Given the description of an element on the screen output the (x, y) to click on. 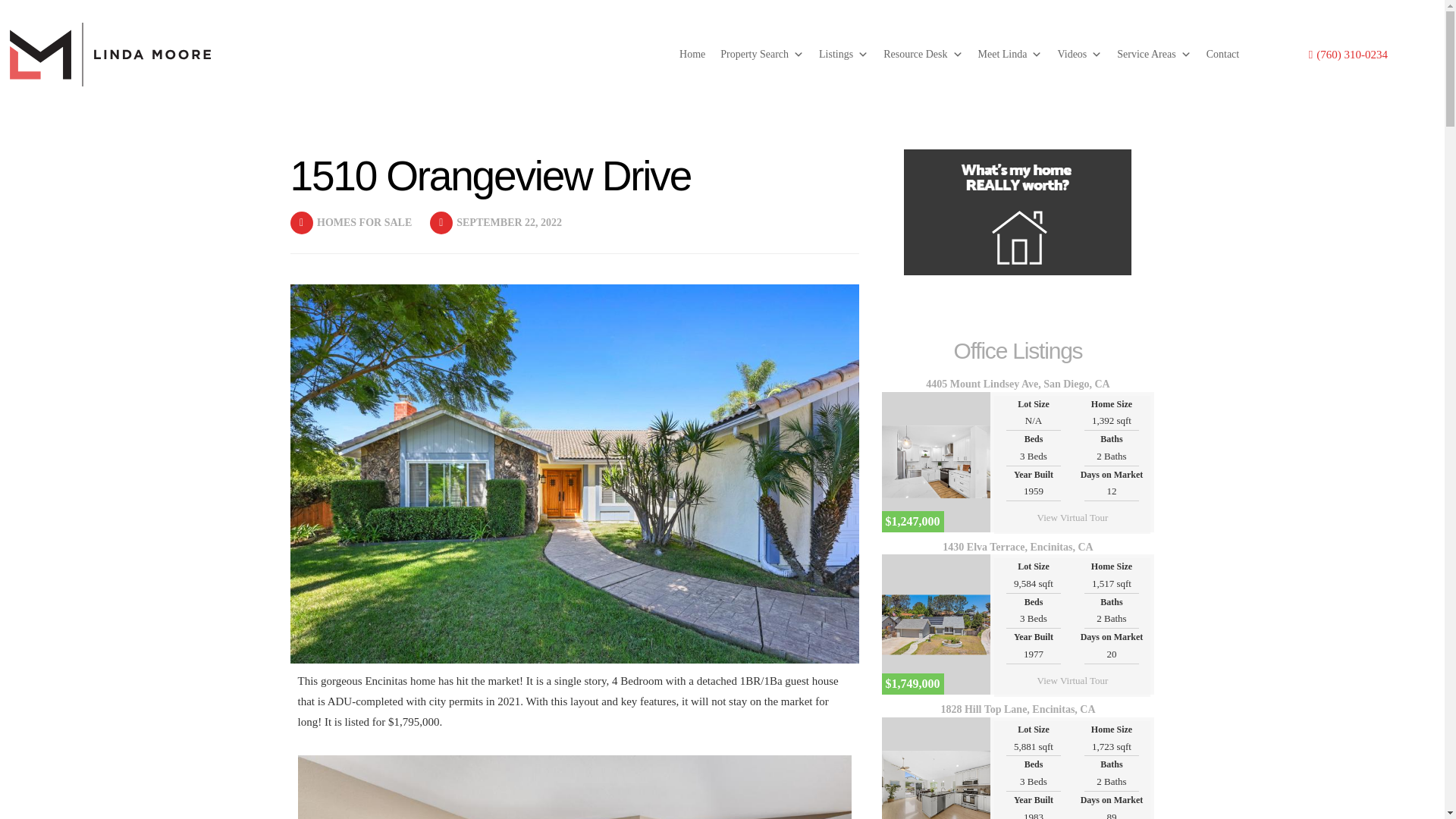
Home (692, 54)
Meet Linda (1010, 54)
Listings (843, 54)
Property Search (761, 54)
Videos (1079, 54)
Resource Desk (922, 54)
